Given the description of an element on the screen output the (x, y) to click on. 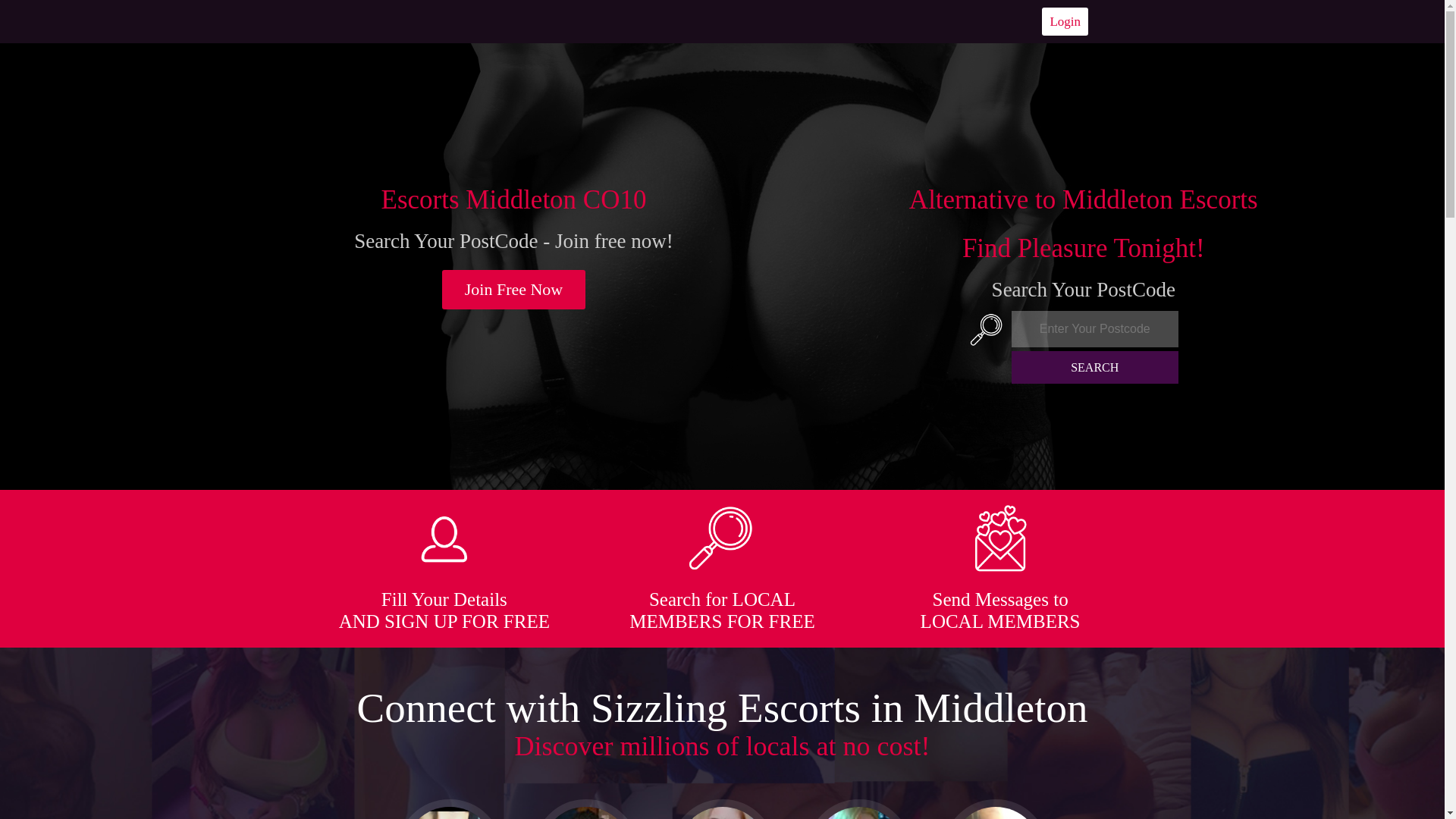
Join Free Now (514, 289)
Join (514, 289)
SEARCH (1094, 367)
Login (1064, 21)
Login (1064, 21)
